Given the description of an element on the screen output the (x, y) to click on. 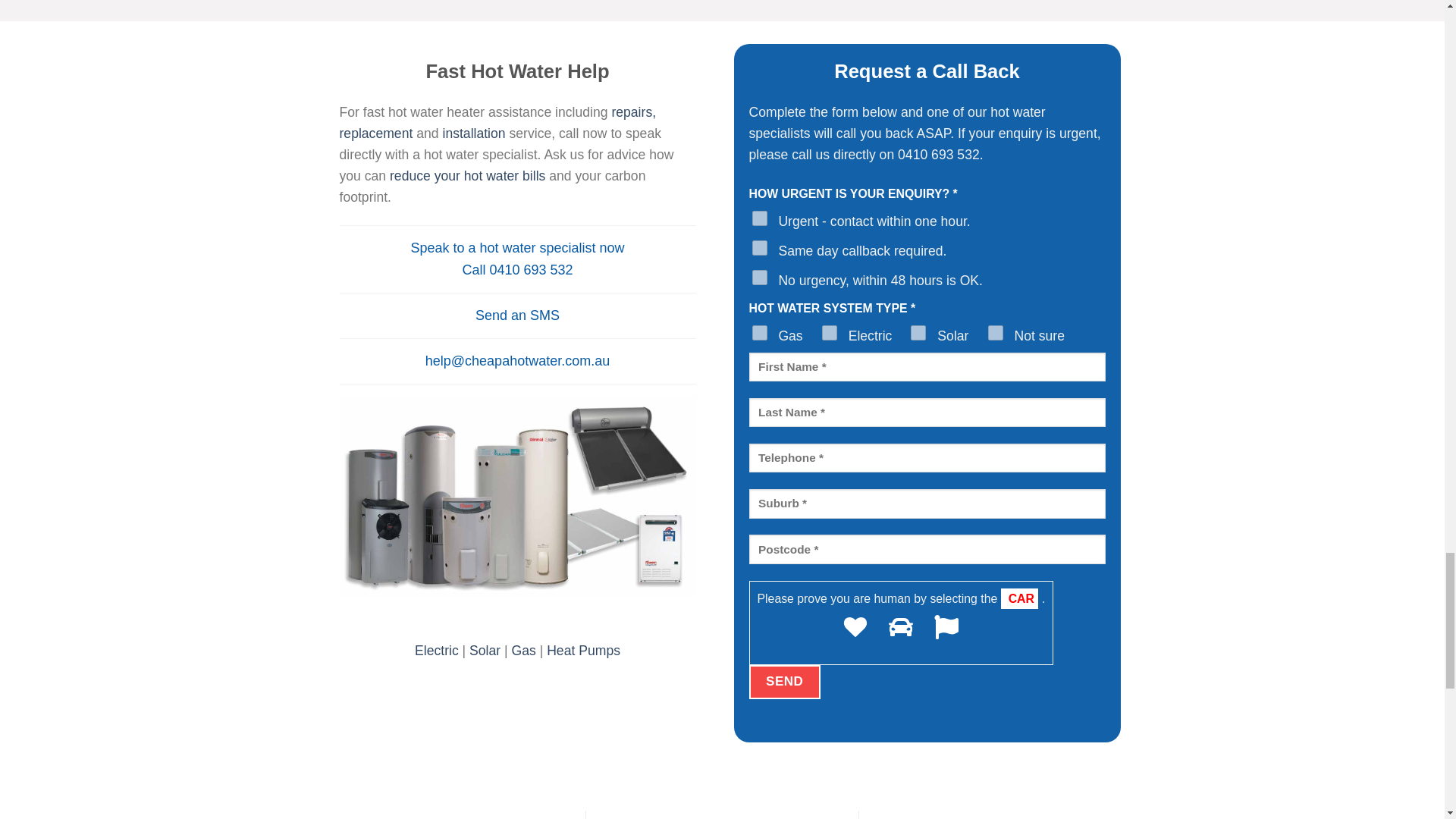
Not sure (995, 331)
Urgent - contact within one hour. (759, 218)
Electric (829, 331)
No urgency, within 48 hours is OK. (759, 277)
Same day callback required. (759, 247)
Send (785, 682)
Solar (918, 331)
Gas (759, 331)
